Given the description of an element on the screen output the (x, y) to click on. 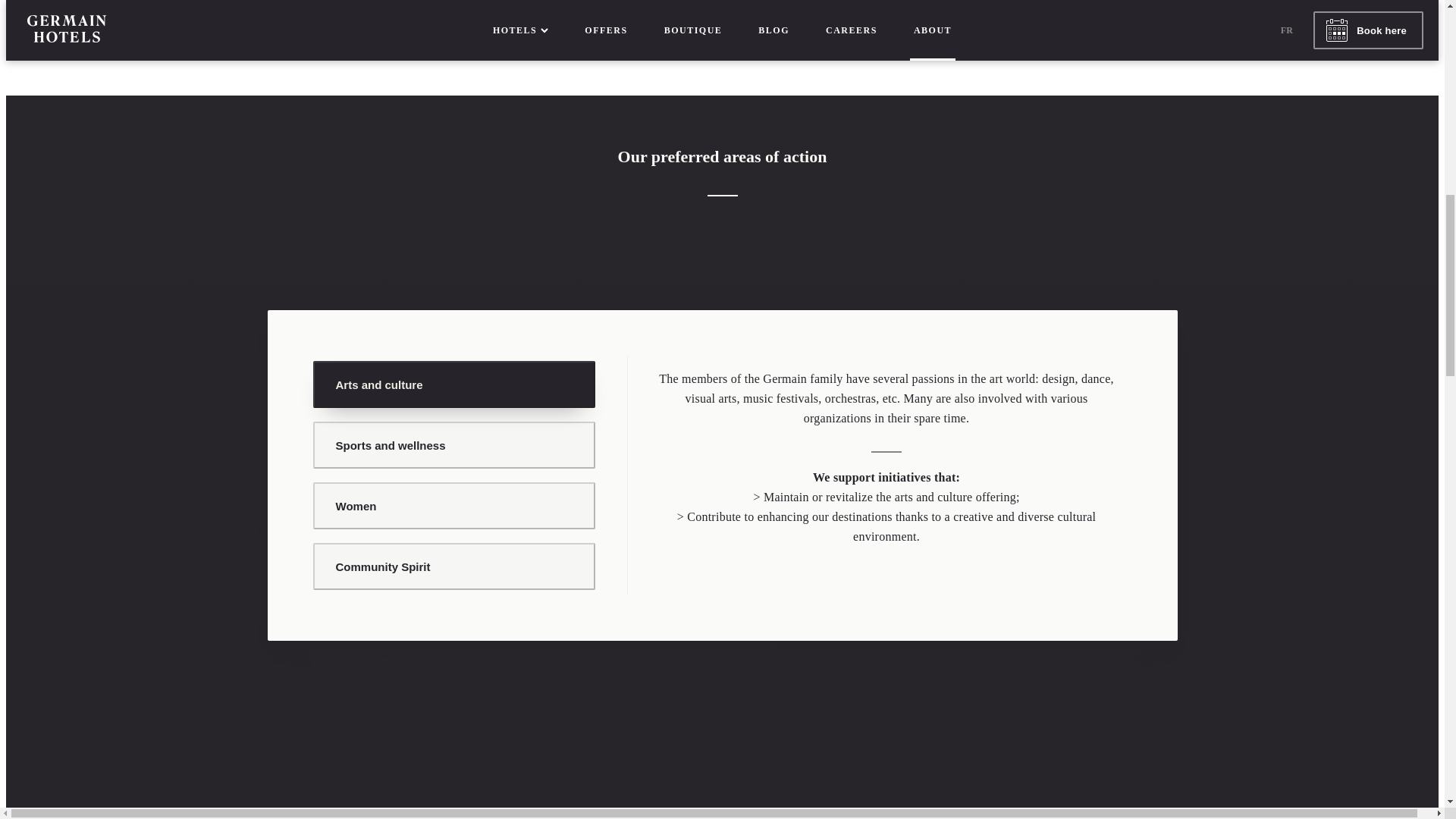
Women (453, 505)
Community Spirit (453, 565)
Arts and culture (453, 384)
Sports and wellness (453, 444)
